Given the description of an element on the screen output the (x, y) to click on. 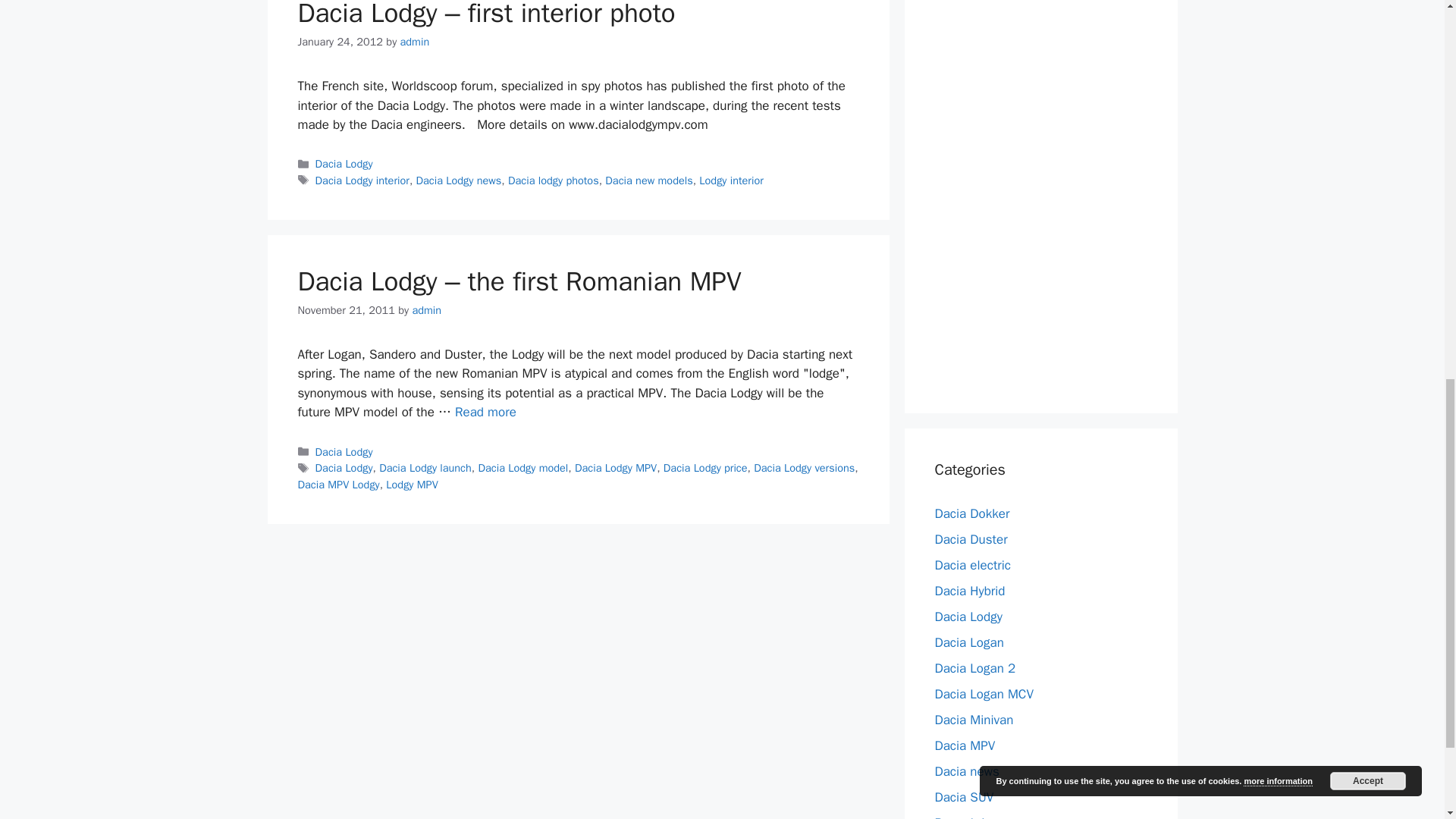
Dacia Lodgy news (459, 180)
Dacia lodgy photos (553, 180)
Dacia Lodgy launch (424, 468)
Dacia Lodgy interior (362, 180)
View all posts by admin (414, 41)
Dacia Lodgy (343, 163)
admin (414, 41)
Lodgy interior (730, 180)
Advertisement (1047, 188)
Dacia Lodgy (343, 451)
View all posts by admin (426, 309)
admin (426, 309)
Dacia new models (649, 180)
Read more (485, 412)
Dacia Lodgy model (522, 468)
